Given the description of an element on the screen output the (x, y) to click on. 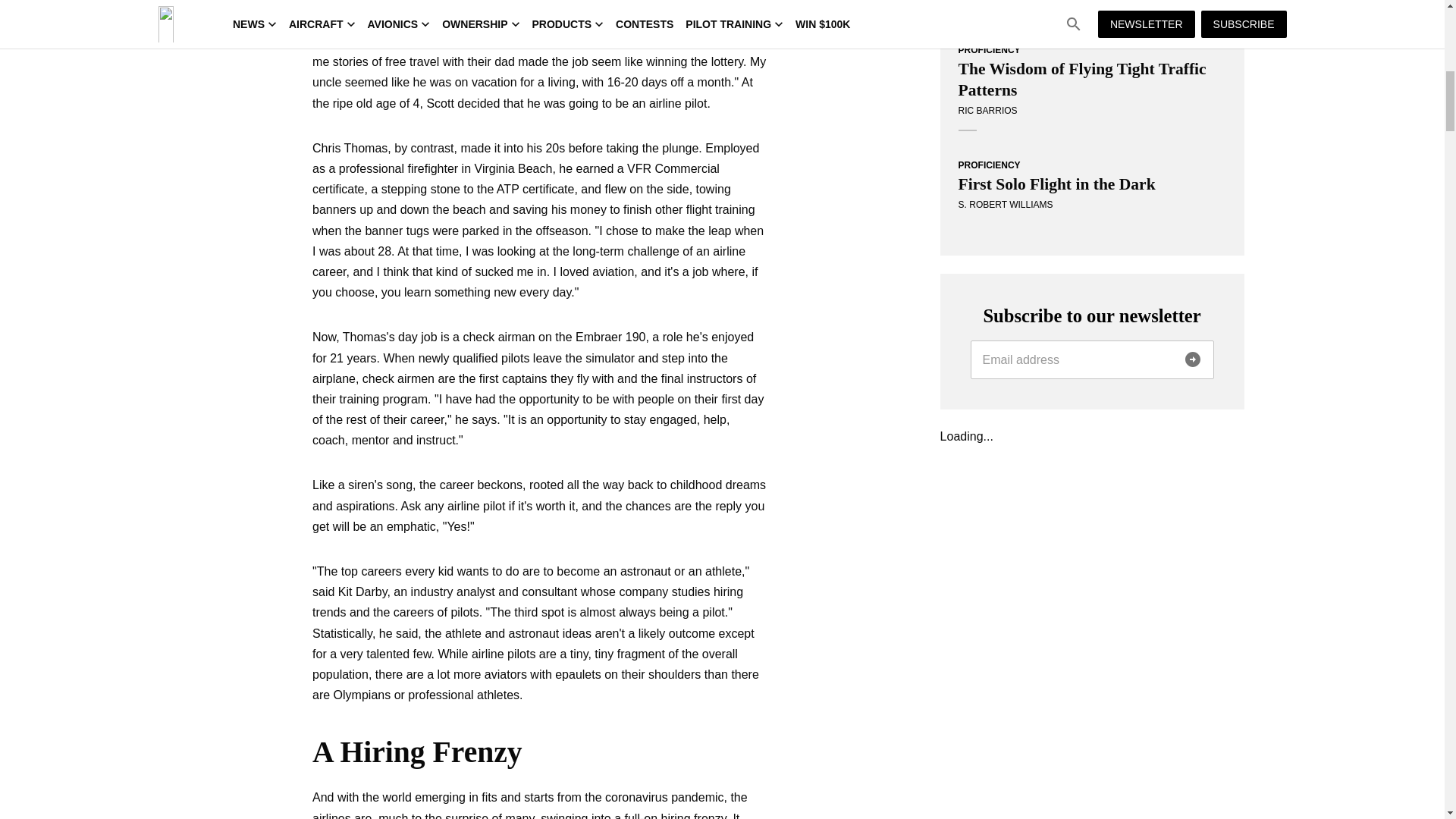
PROFICIENCY (989, 50)
PROFICIENCY (989, 164)
Submit (1191, 358)
First Solo Flight in the Dark (1091, 183)
RIC BARRIOS (987, 110)
FRANK AYERS (990, 0)
The Wisdom of Flying Tight Traffic Patterns (1091, 79)
